Given the description of an element on the screen output the (x, y) to click on. 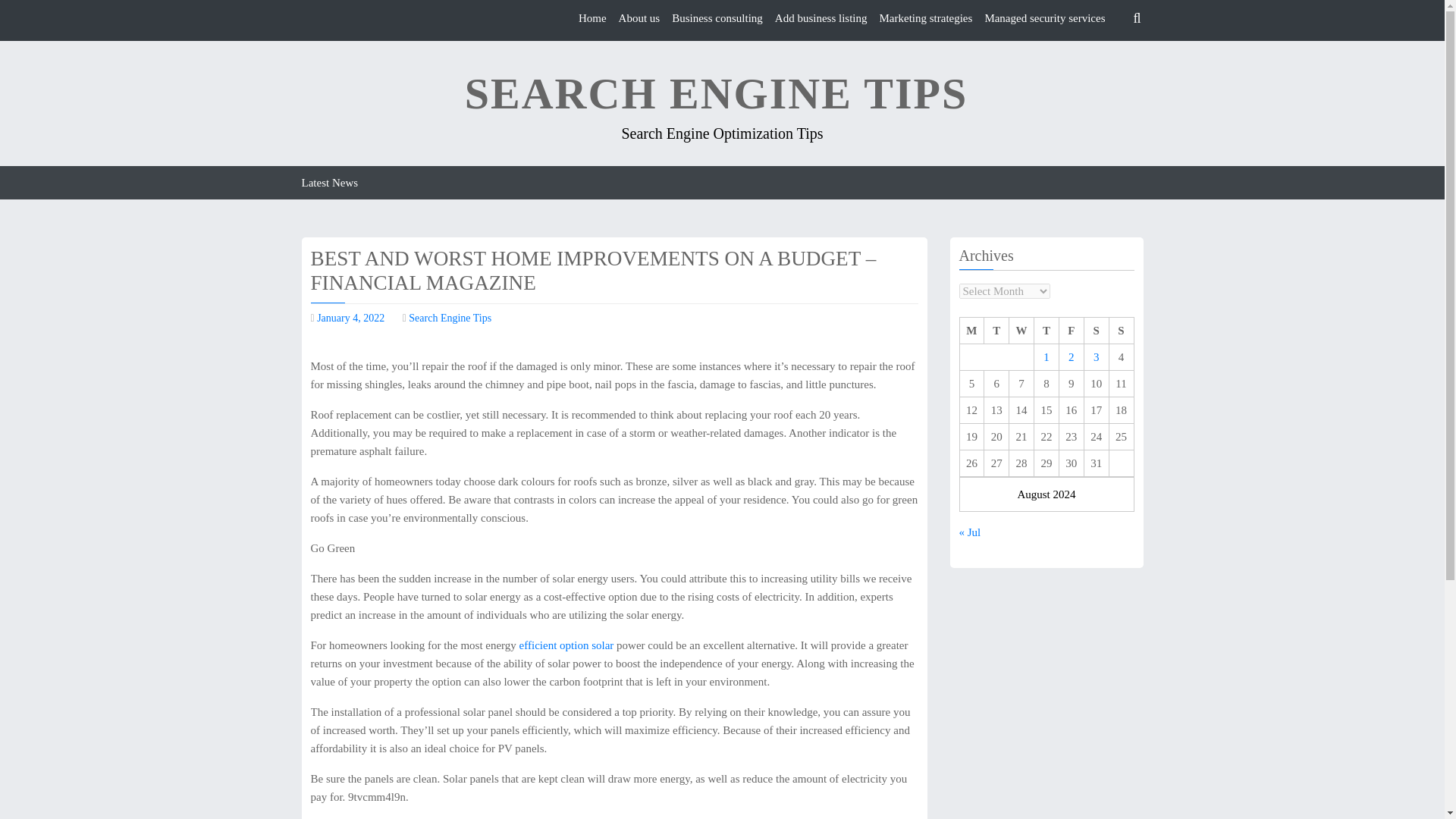
Marketing strategies (925, 18)
Tuesday (996, 330)
SEARCH ENGINE TIPS (716, 93)
January 4, 2022 (350, 317)
Home (592, 18)
Wednesday (1021, 330)
efficient option solar (566, 645)
Monday (971, 330)
Search Engine Tips (450, 317)
Search (1010, 82)
Business consulting (716, 18)
Sunday (1121, 330)
2 (1071, 357)
Friday (1070, 330)
Saturday (1095, 330)
